Given the description of an element on the screen output the (x, y) to click on. 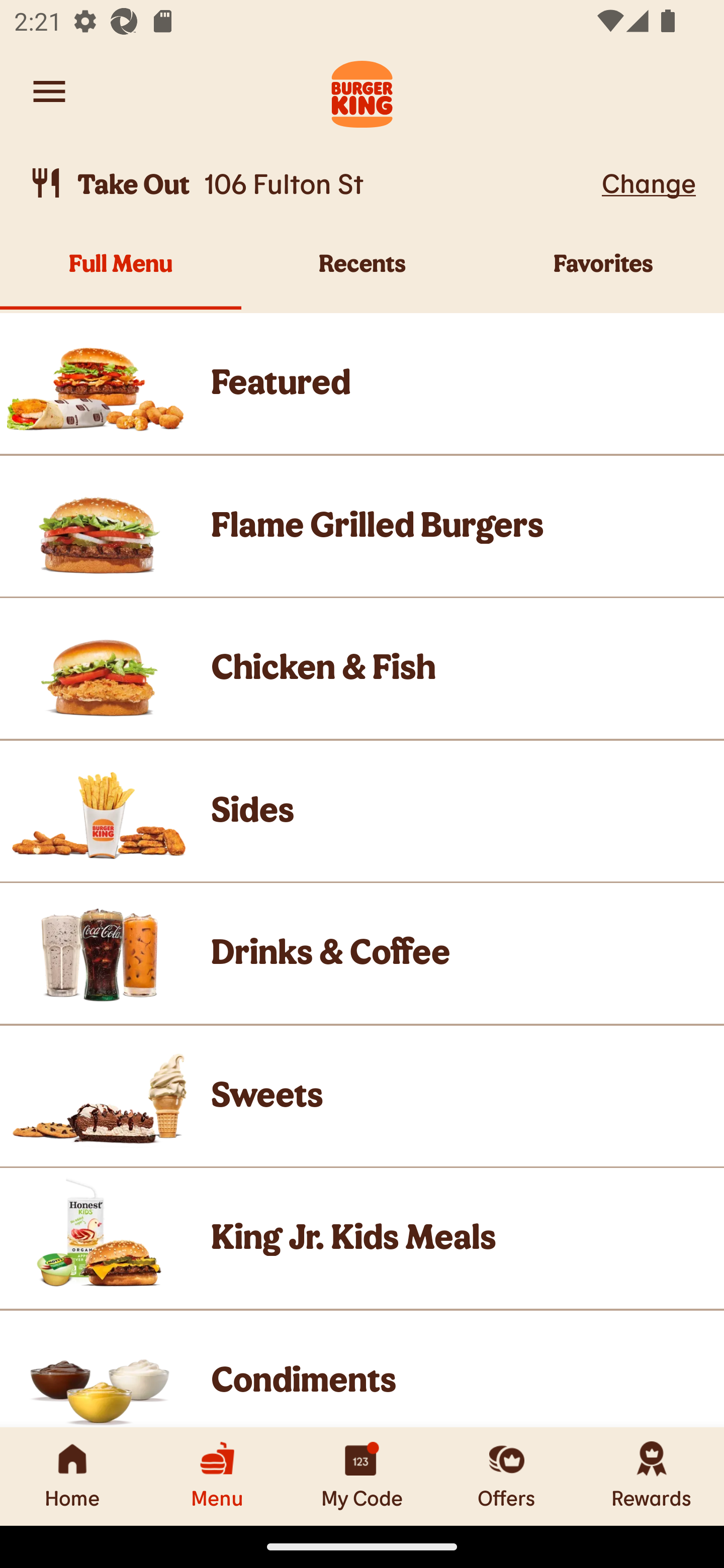
Burger King Logo. Navigate to Home (362, 91)
Navigate to account menu  (49, 91)
Take Out, 106 Fulton St  Take Out 106 Fulton St (311, 183)
Change (648, 182)
Full Menu (120, 273)
Recents (361, 273)
Favorites (603, 273)
Product Image, Featured Product Image Featured (362, 383)
Product Image, Sides Product Image Sides (362, 810)
Product Image, Sweets Product Image Sweets (362, 1095)
Product Image, Condiments Product Image Condiments (362, 1368)
Home (72, 1475)
Menu (216, 1475)
My Code (361, 1475)
Offers (506, 1475)
Rewards (651, 1475)
